Given the description of an element on the screen output the (x, y) to click on. 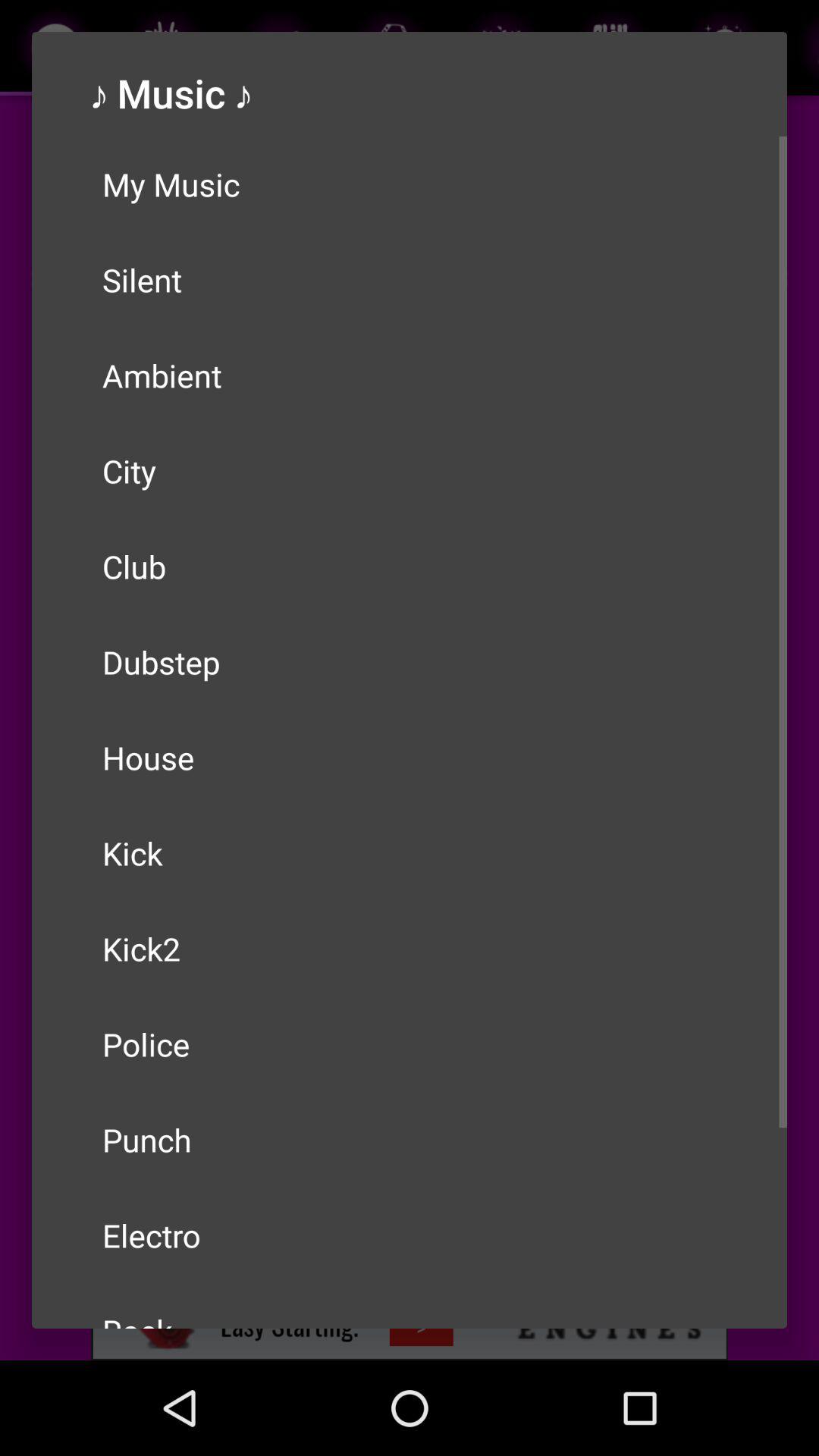
choose the 		rock (409, 1305)
